Given the description of an element on the screen output the (x, y) to click on. 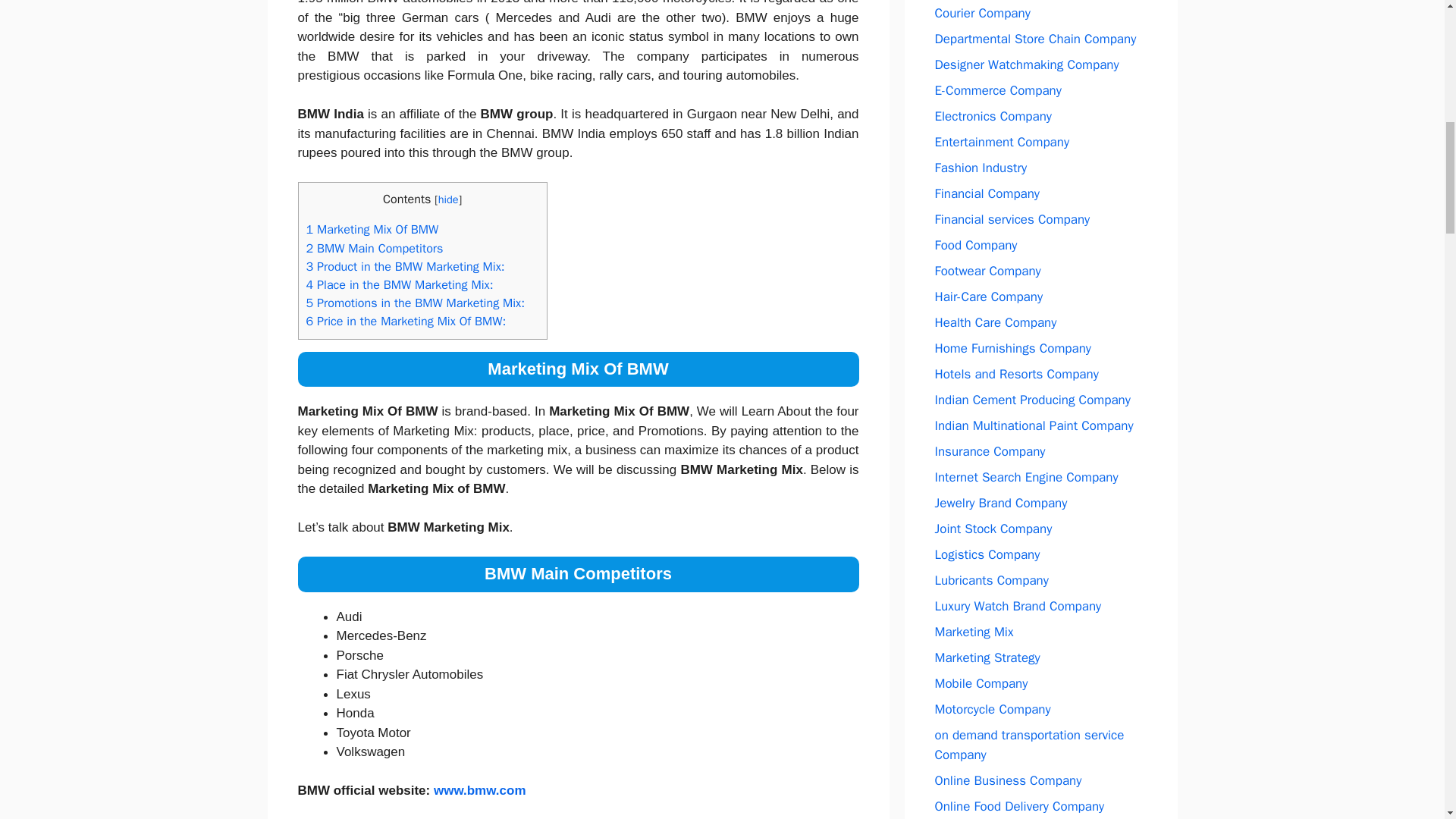
www.bmw.com (479, 789)
Scroll back to top (1406, 720)
2 BMW Main Competitors (374, 247)
3 Product in the BMW Marketing Mix: (405, 266)
1 Marketing Mix Of BMW (372, 229)
6 Price in the Marketing Mix Of BMW: (405, 320)
5 Promotions in the BMW Marketing Mix: (415, 302)
4 Place in the BMW Marketing Mix: (399, 284)
hide (448, 199)
